Given the description of an element on the screen output the (x, y) to click on. 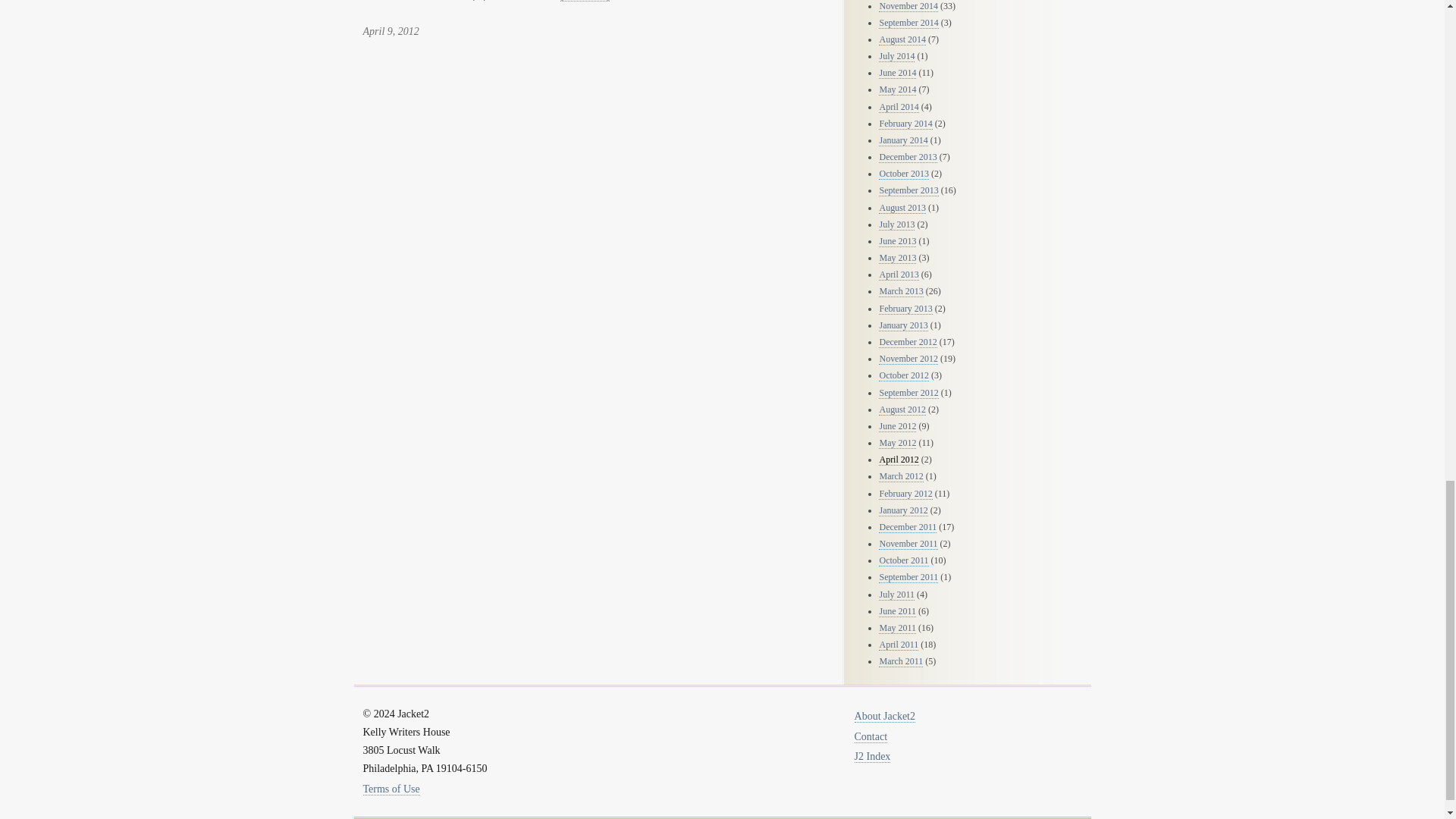
Contact (871, 736)
About us (884, 716)
Terms of Use (390, 788)
read more (585, 0)
Index of Jacket 2 Content (872, 756)
Read the rest of Never without. (585, 0)
